Given the description of an element on the screen output the (x, y) to click on. 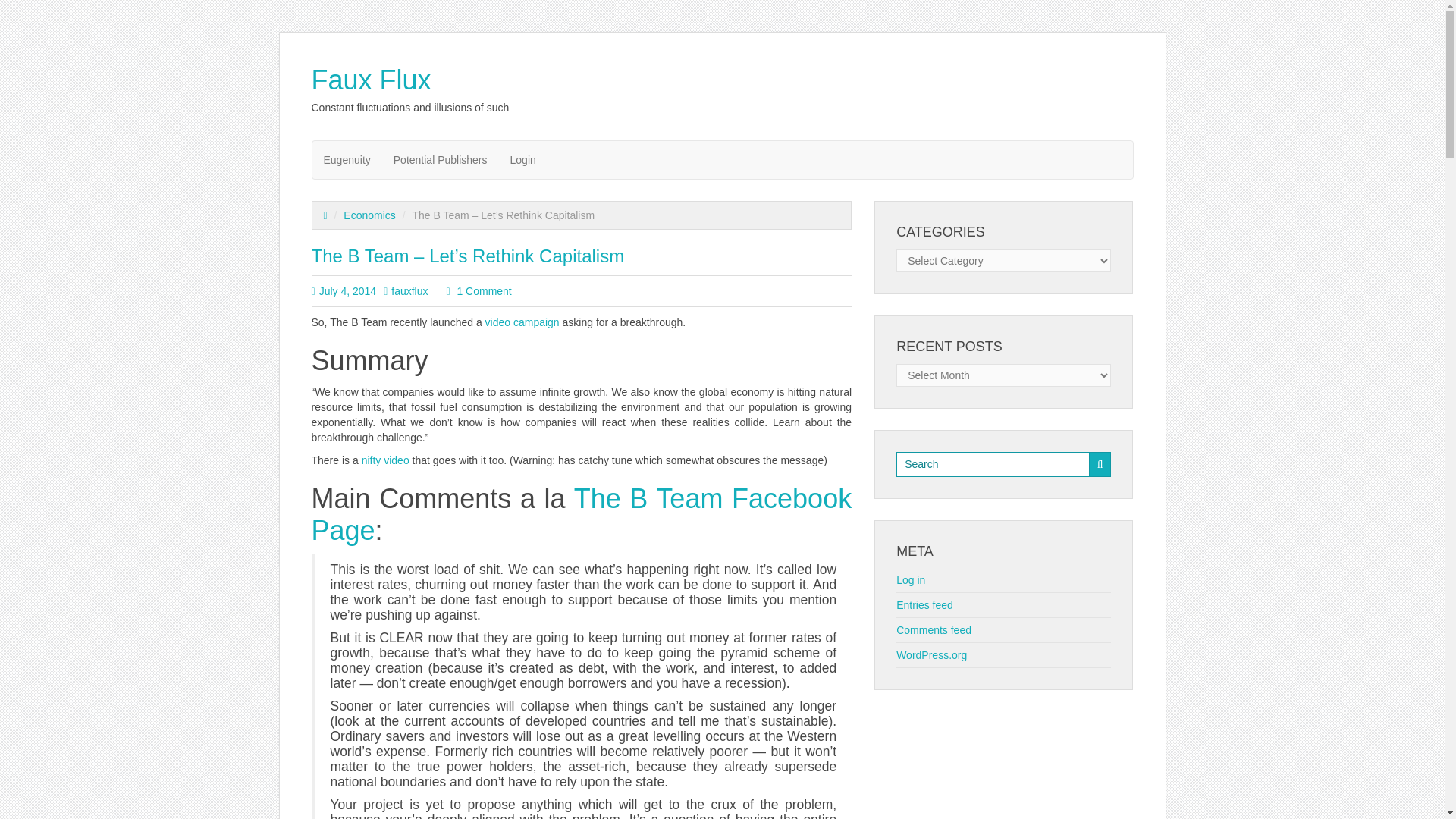
Economics (368, 215)
12:24 pm (347, 291)
July 4, 2014 (347, 291)
1 Comment (483, 291)
WordPress.org (931, 654)
fauxflux (409, 291)
Eugenuity (347, 159)
Eugenuity (347, 159)
The B Team Facebook Page (581, 514)
Faux Flux (370, 79)
